Given the description of an element on the screen output the (x, y) to click on. 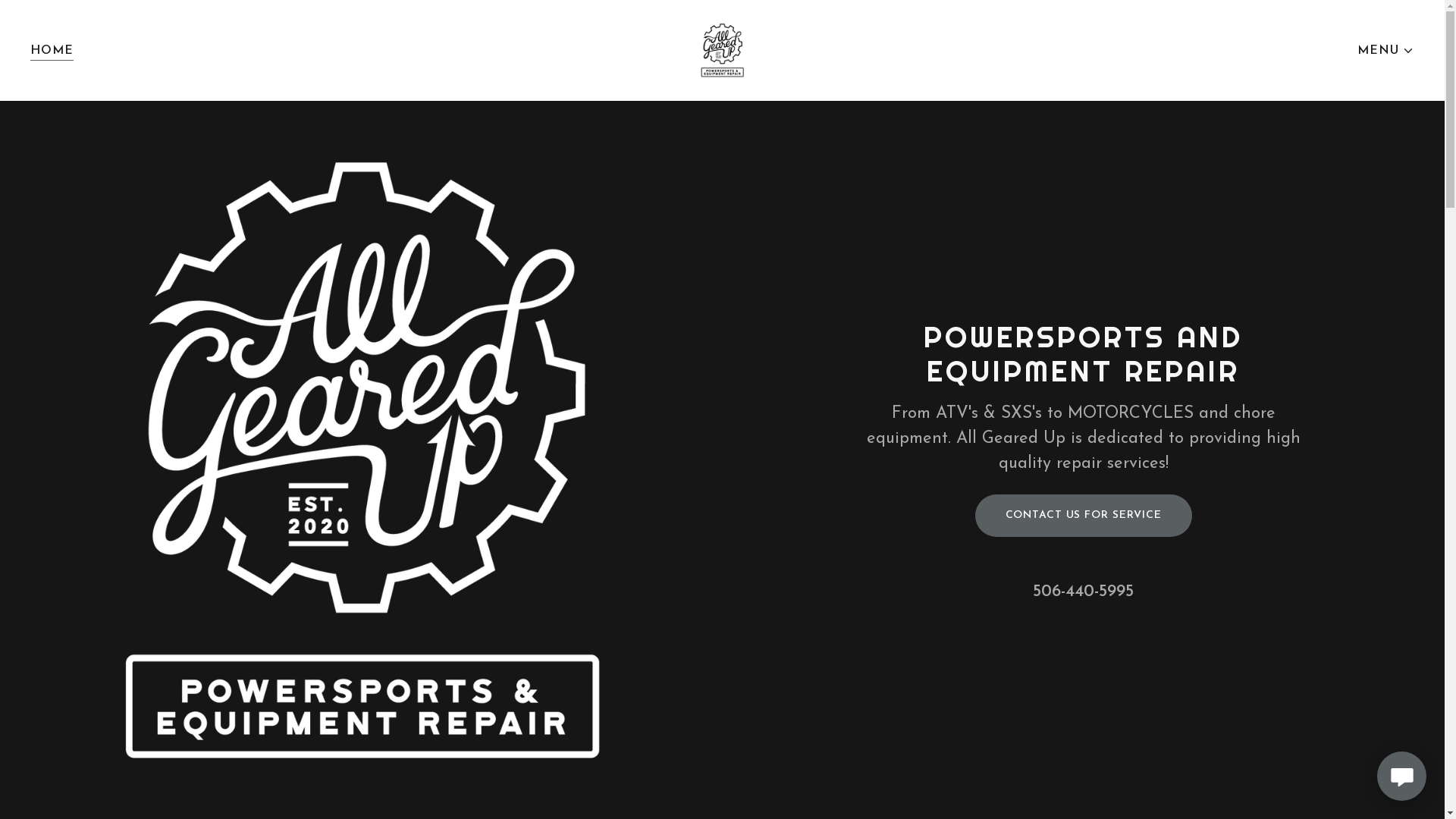
All Geared Up Powersports and Equipment Repair Element type: hover (722, 49)
HOME Element type: text (51, 49)
MENU Element type: text (1385, 49)
506-440-5995 Element type: text (1082, 591)
CONTACT US FOR SERVICE Element type: text (1083, 515)
